Given the description of an element on the screen output the (x, y) to click on. 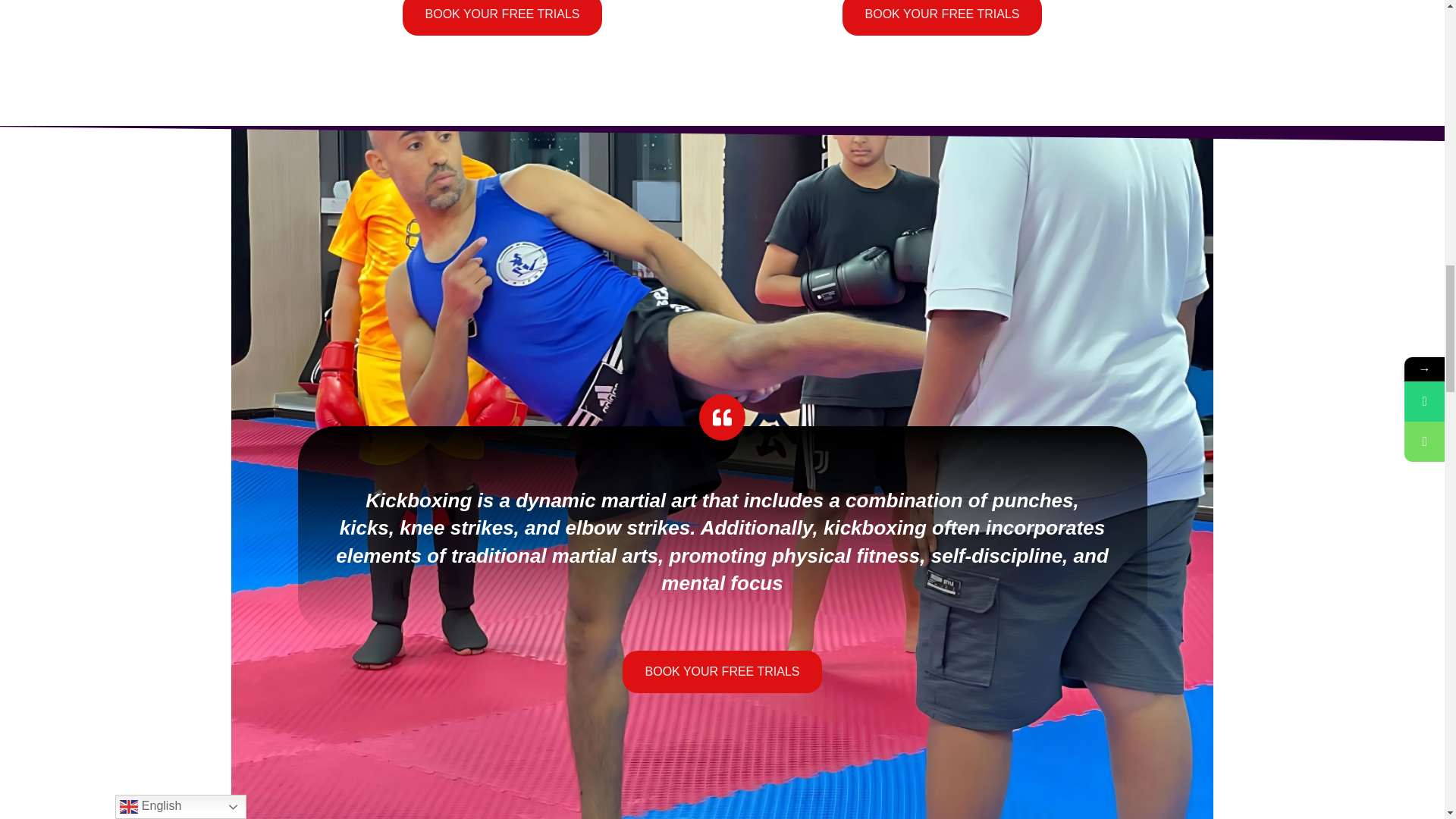
BOOK YOUR FREE TRIALS (942, 18)
BOOK YOUR FREE TRIALS (722, 671)
BOOK YOUR FREE TRIALS (502, 18)
